Given the description of an element on the screen output the (x, y) to click on. 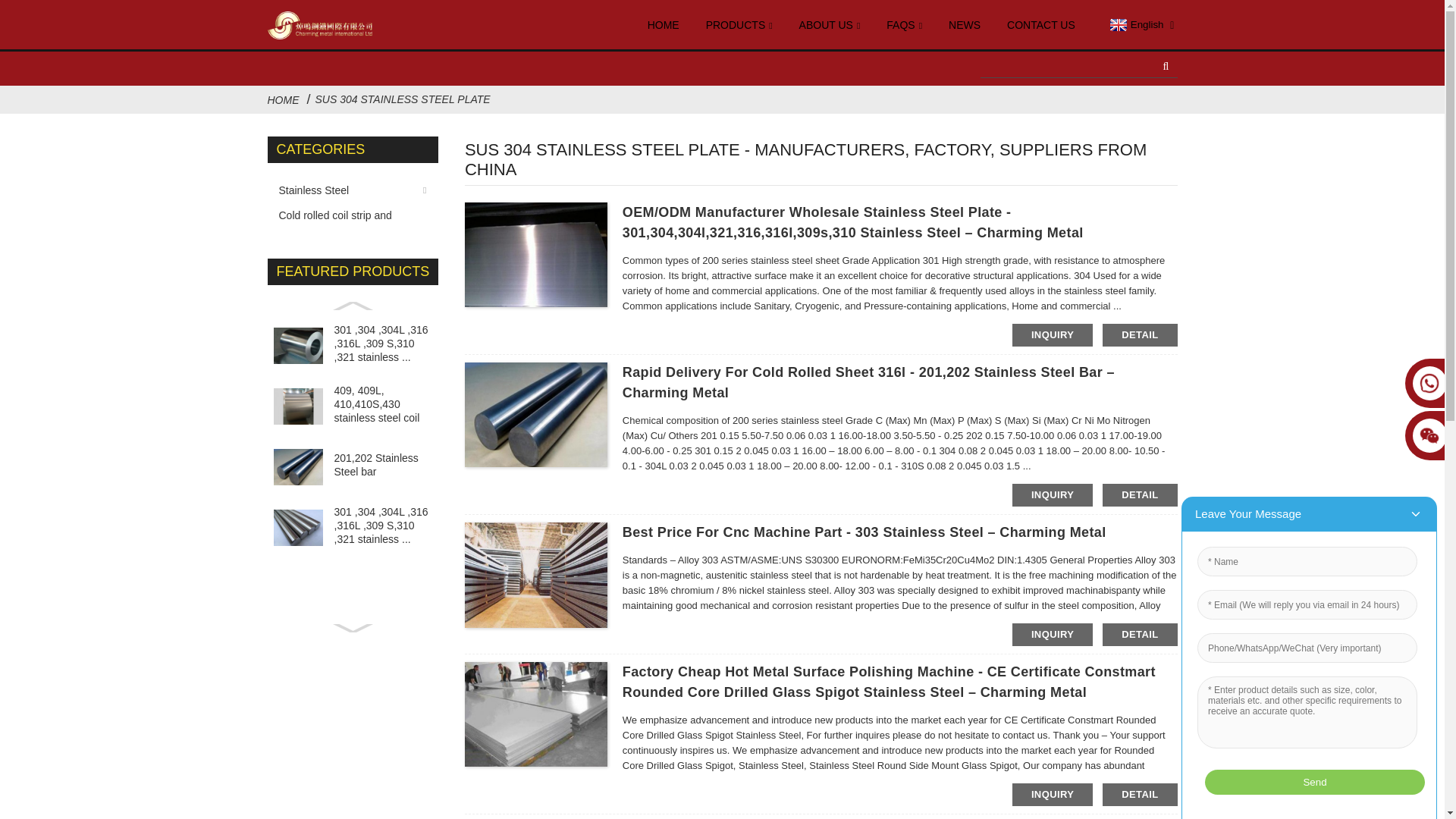
SUS 304 STAINLESS STEEL PLATE (402, 99)
English (1134, 24)
HOME (282, 100)
PRODUCTS (739, 25)
FAQS (903, 25)
Cold rolled coil strip and sheet (345, 215)
409, 409L, 410,410S,430 stainless steel coil (381, 404)
HOME (663, 25)
201,202 Stainless Steel bar (381, 464)
NEWS (964, 25)
301 ,304 ,304L ,316 ,316L ,309 S,310 ,321 stainless ... (381, 525)
ABOUT US (829, 25)
Stainless Steel (345, 190)
top (1412, 798)
301 ,304 ,304L ,316 ,316L ,309 S,310 ,321 stainless ... (381, 342)
